Given the description of an element on the screen output the (x, y) to click on. 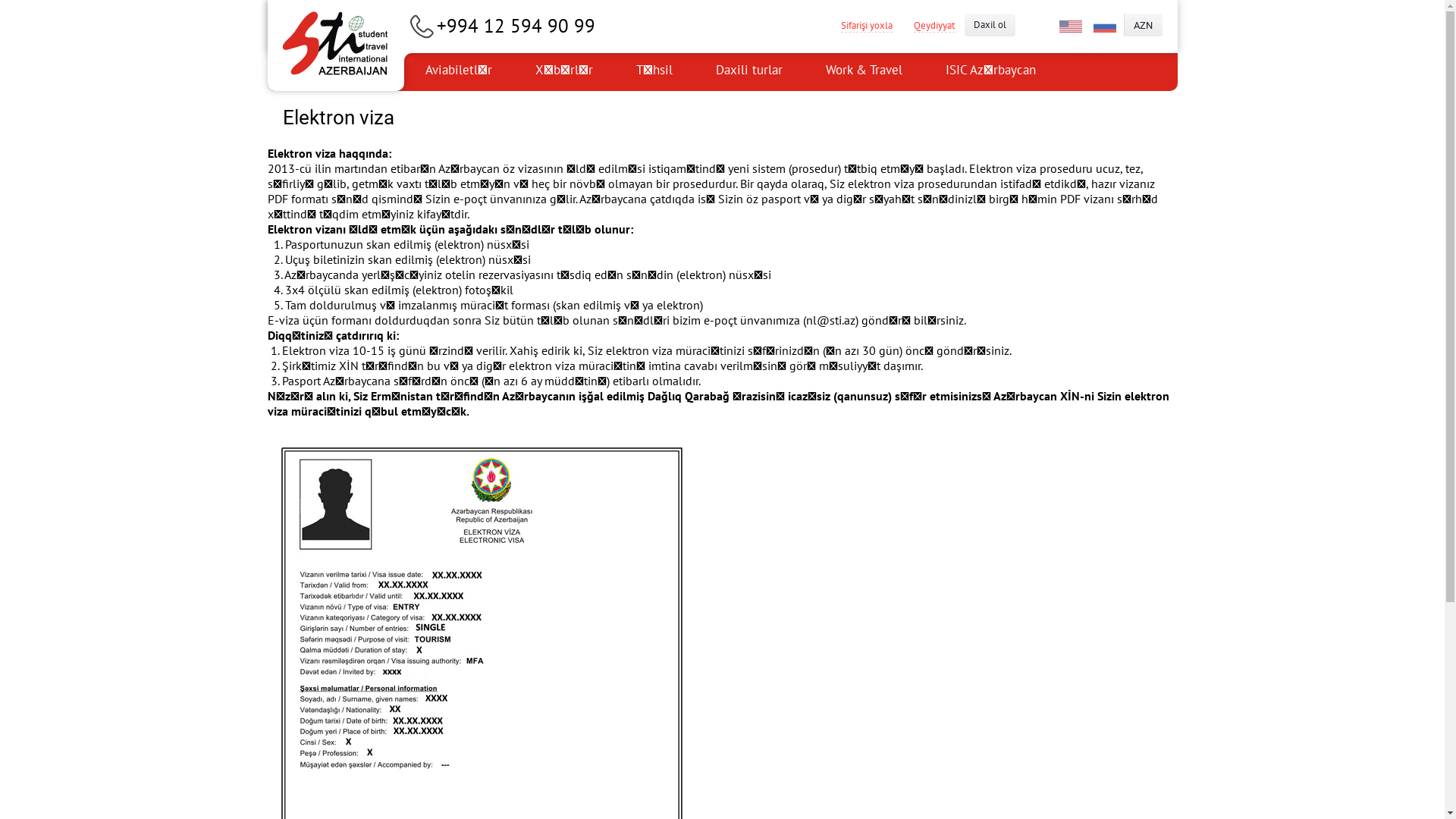
Daxil ol Element type: text (989, 24)
Daxili turlar Element type: text (748, 72)
AZN Element type: text (1142, 24)
Work & Travel Element type: text (863, 72)
Qeydiyyat Element type: text (933, 24)
